Given the description of an element on the screen output the (x, y) to click on. 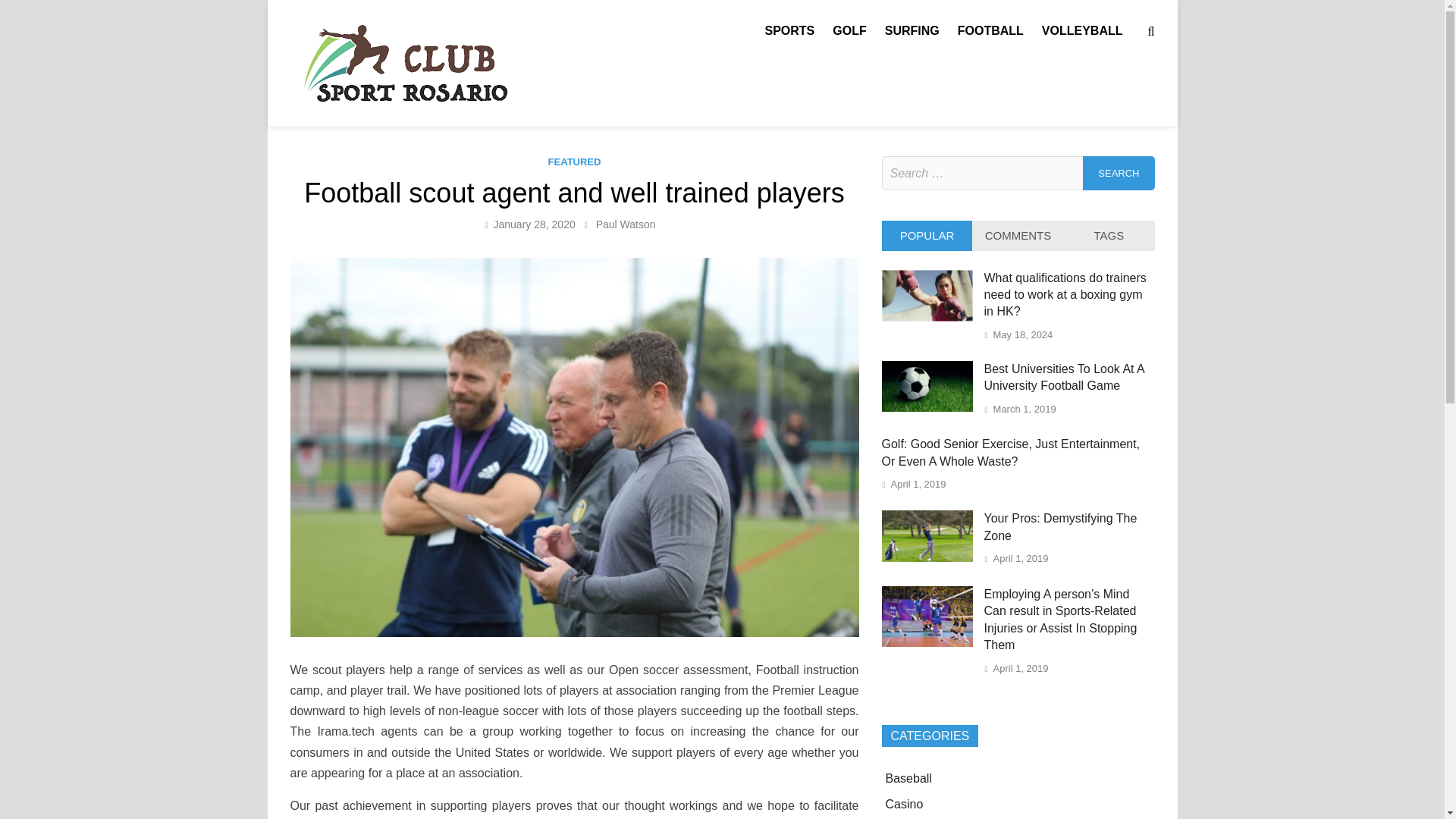
FEATURED (574, 161)
April 1, 2019 (1020, 558)
COMMENTS (1017, 235)
Best Universities To Look At A University Football Game (1064, 377)
Your Pros: Demystifying The Zone (927, 557)
SURFING (912, 30)
Search (1118, 173)
